Given the description of an element on the screen output the (x, y) to click on. 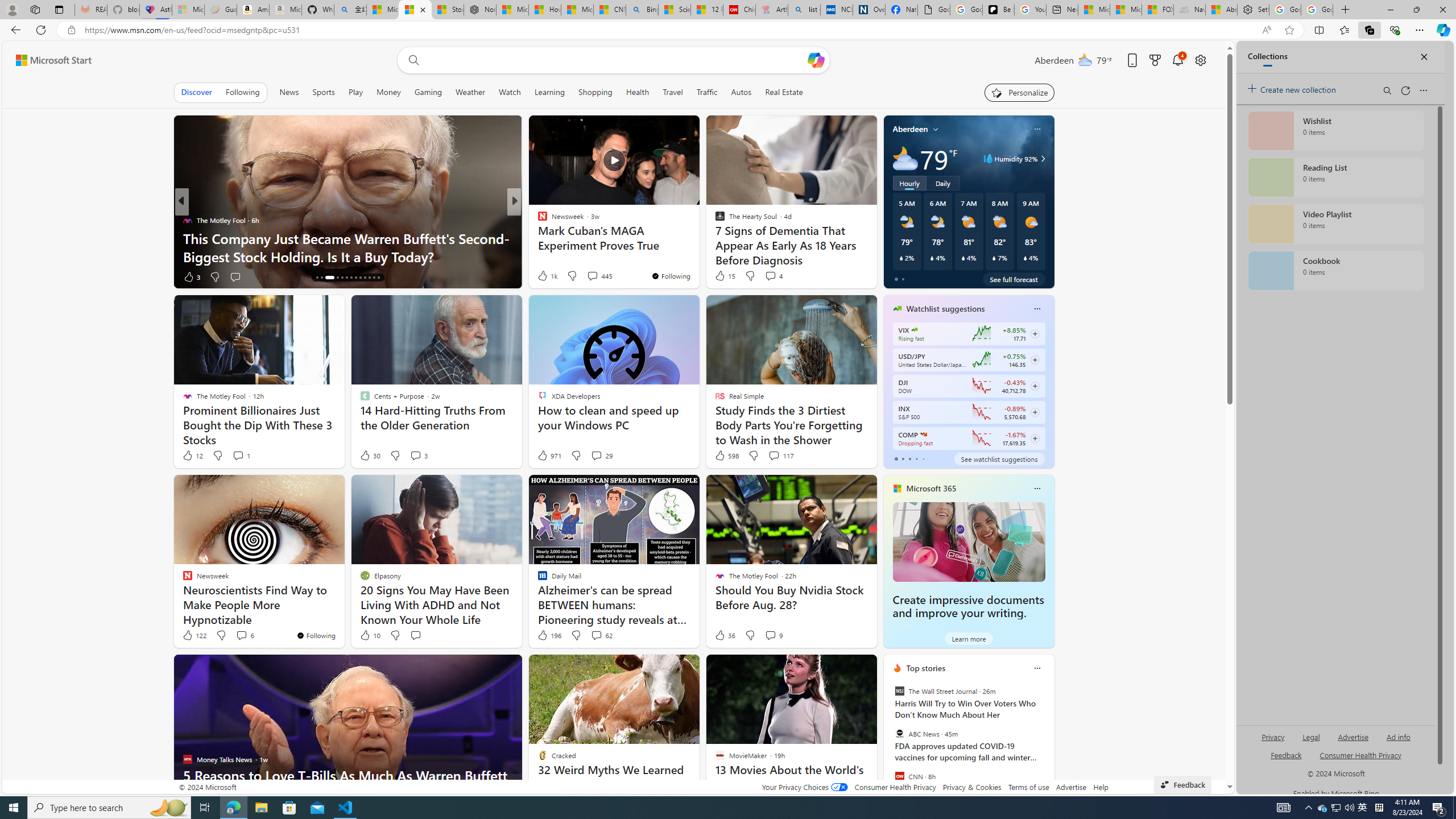
View comments 6 Comment (241, 635)
Sports (323, 92)
Top stories (925, 668)
Hide this story (841, 668)
tab-1 (903, 458)
You're following FOX News (839, 279)
The Wall Street Journal (898, 691)
View comments 30 Comment (594, 276)
View comments 9 Comment (770, 635)
350 Like (545, 276)
Real Estate (783, 92)
AutomationID: tab-15 (321, 277)
View comments 13 Comment (592, 276)
